Given the description of an element on the screen output the (x, y) to click on. 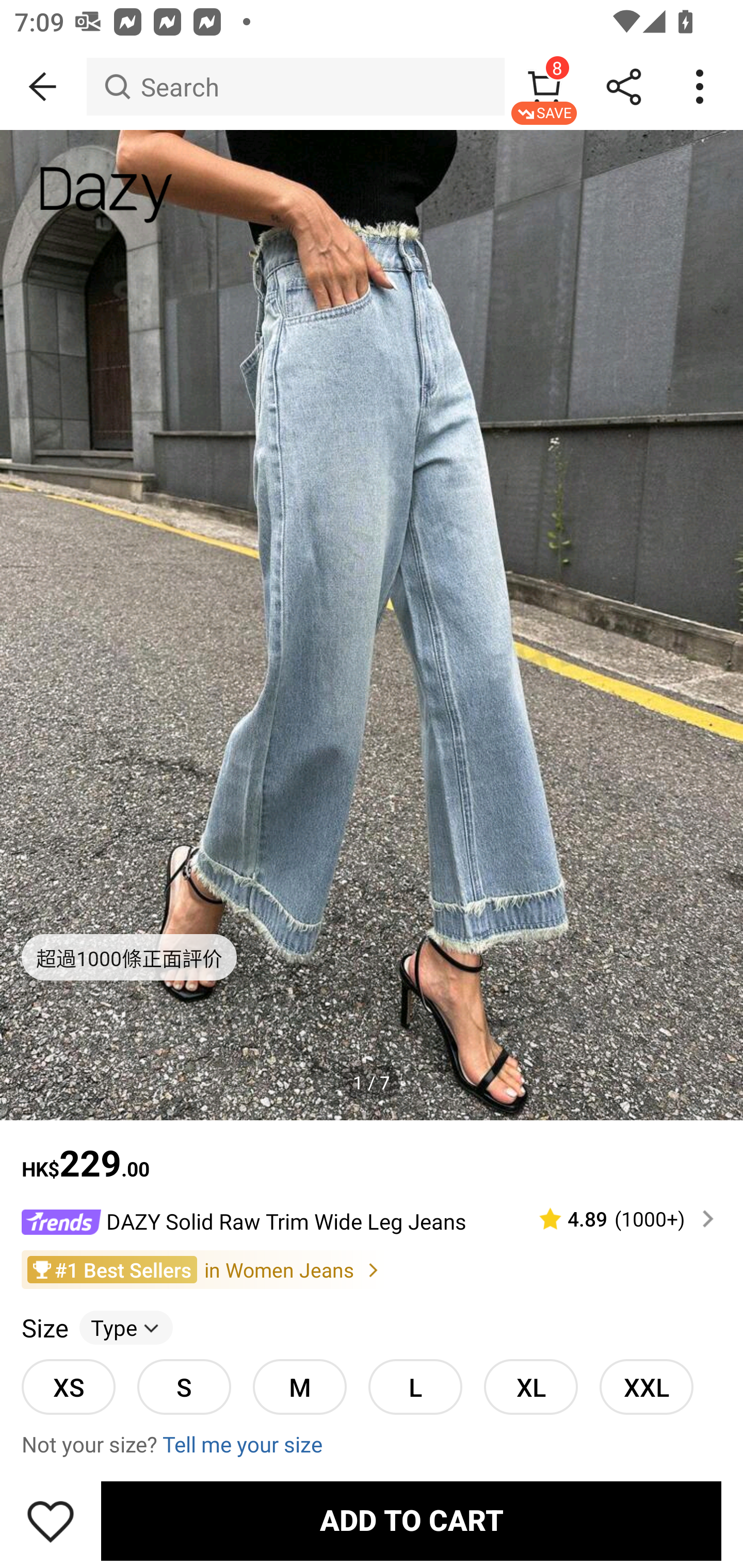
BACK (43, 86)
8 SAVE (543, 87)
Search (295, 87)
1 / 7 (371, 1082)
HK$229.00 (371, 1152)
4.89 (1000‎+) (617, 1219)
#1 Best Sellers in Women Jeans (371, 1268)
Size (44, 1327)
Type (126, 1327)
XS Sunselected option (68, 1386)
S Munselected option (184, 1386)
M Lunselected option (299, 1386)
L XLunselected option (415, 1386)
XL XXLunselected option (530, 1386)
XXL unselected option (646, 1386)
Not your size? Tell me your size (371, 1444)
ADD TO CART (411, 1520)
Save (50, 1520)
